Given the description of an element on the screen output the (x, y) to click on. 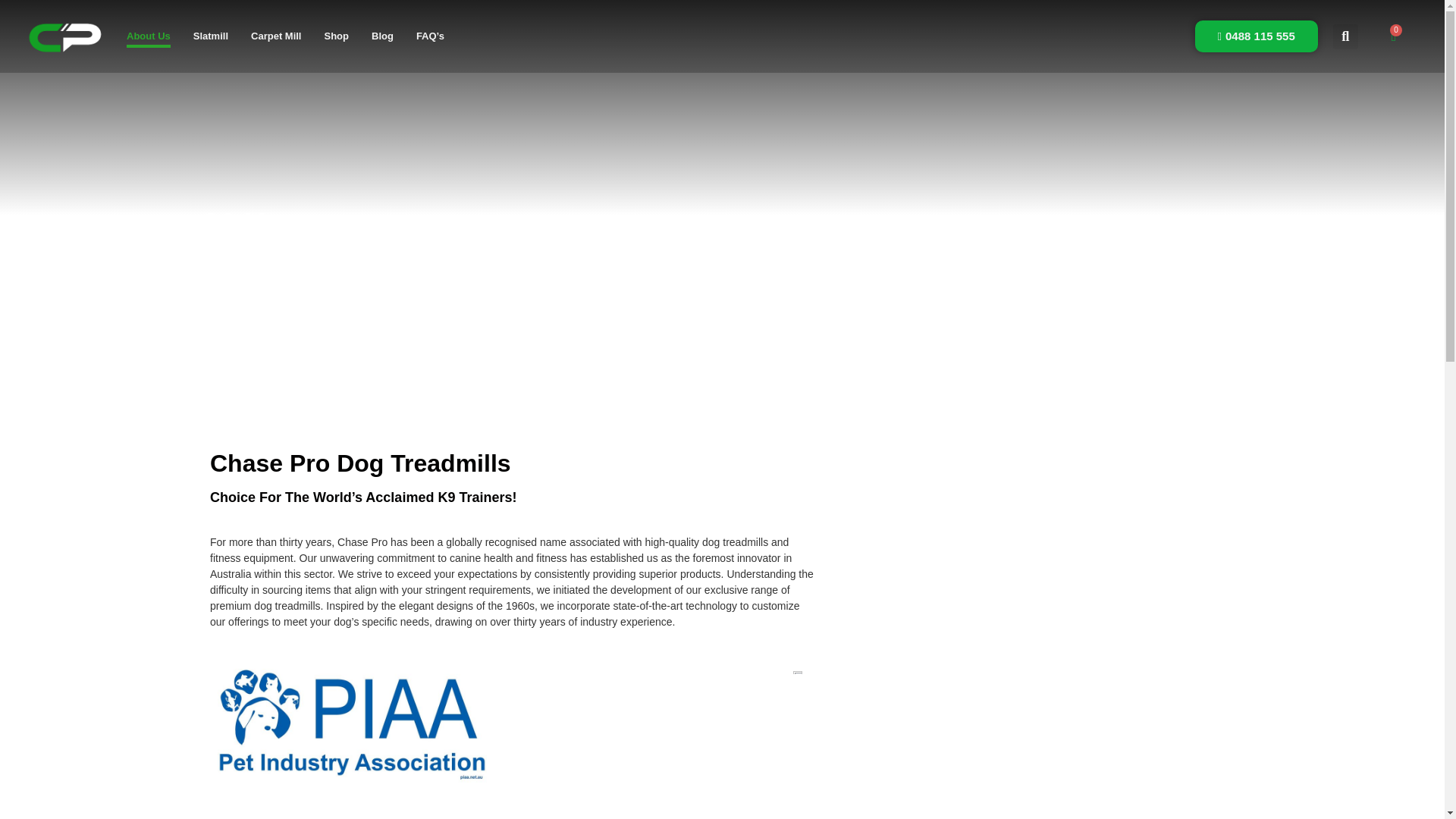
0 (1393, 36)
About Us (148, 36)
Carpet Mill (275, 36)
Blog (382, 36)
0488 115 555 (1256, 36)
Slatmill (210, 36)
Shop (336, 36)
